Given the description of an element on the screen output the (x, y) to click on. 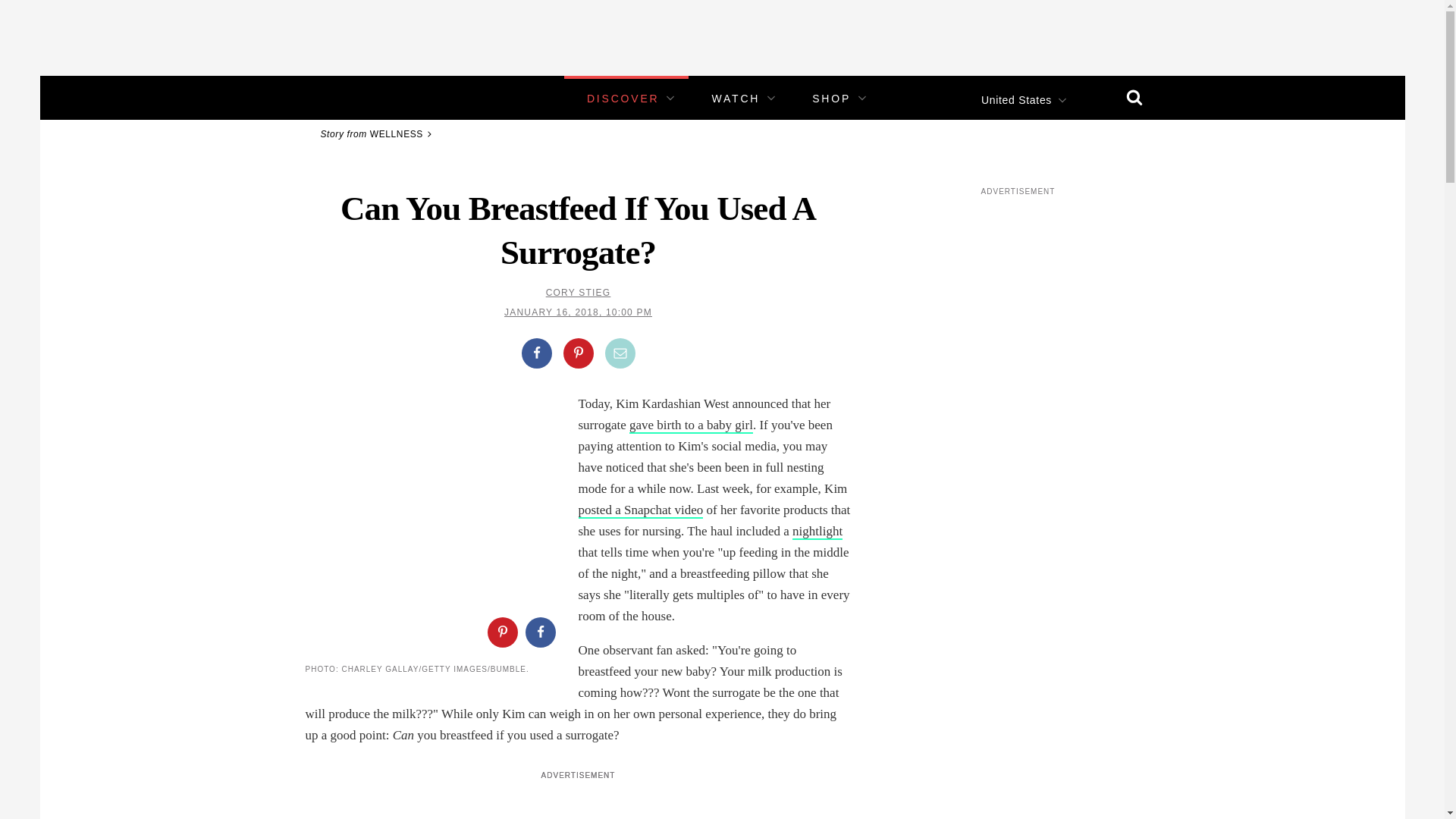
SHOP (831, 98)
Share on Pinterest (501, 632)
JANUARY 16, 2018, 10:00 PM (577, 312)
CORY STIEG (578, 292)
Story from WELLNESS (377, 133)
Share on Pinterest (577, 353)
posted a Snapchat video (640, 510)
WATCH (735, 98)
gave birth to a baby girl (690, 425)
Share by Email (619, 353)
